Given the description of an element on the screen output the (x, y) to click on. 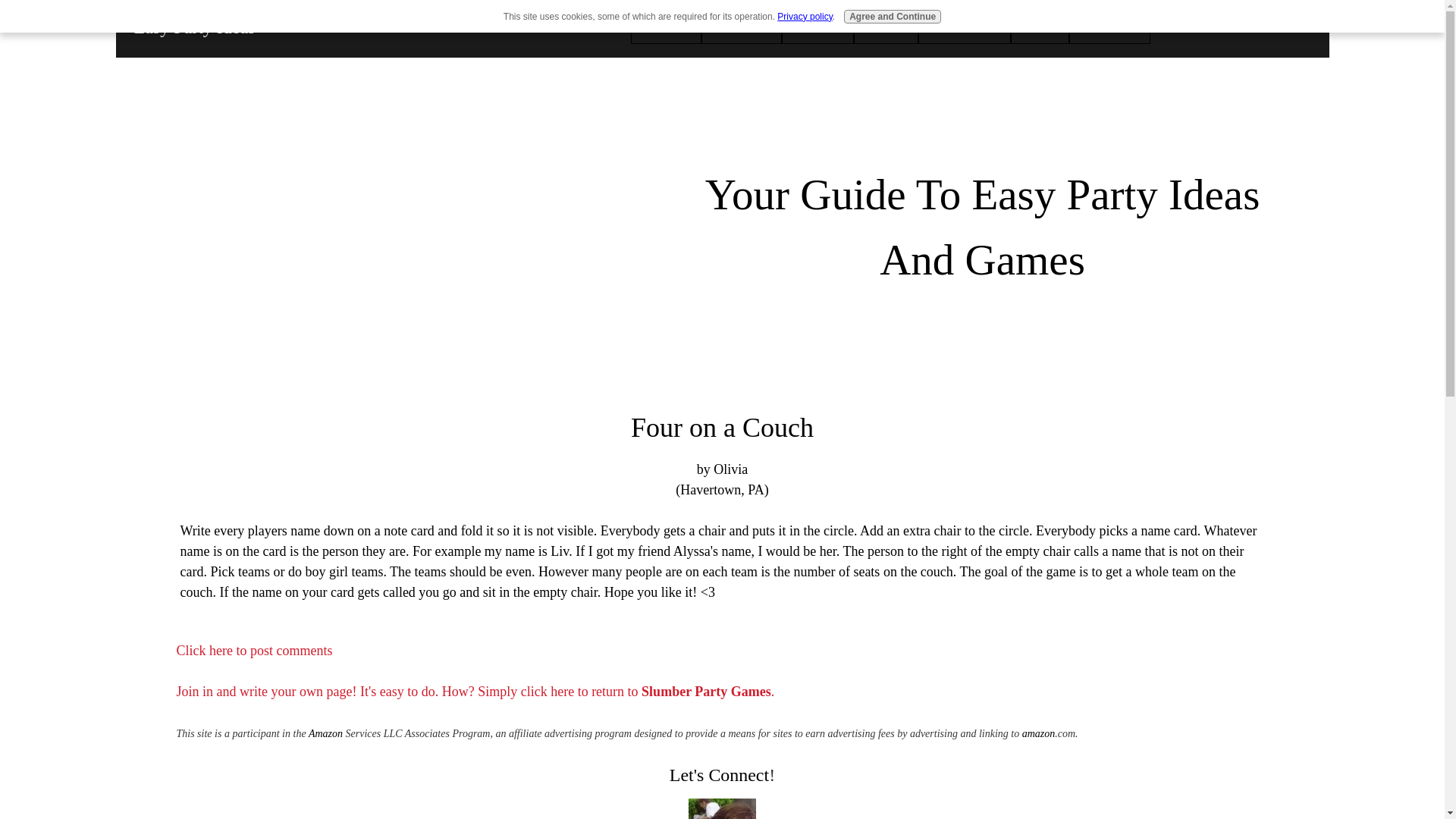
Click here to post comments (253, 650)
Easy Party Ideas (193, 26)
HOME (665, 28)
Lisa (721, 808)
